Given the description of an element on the screen output the (x, y) to click on. 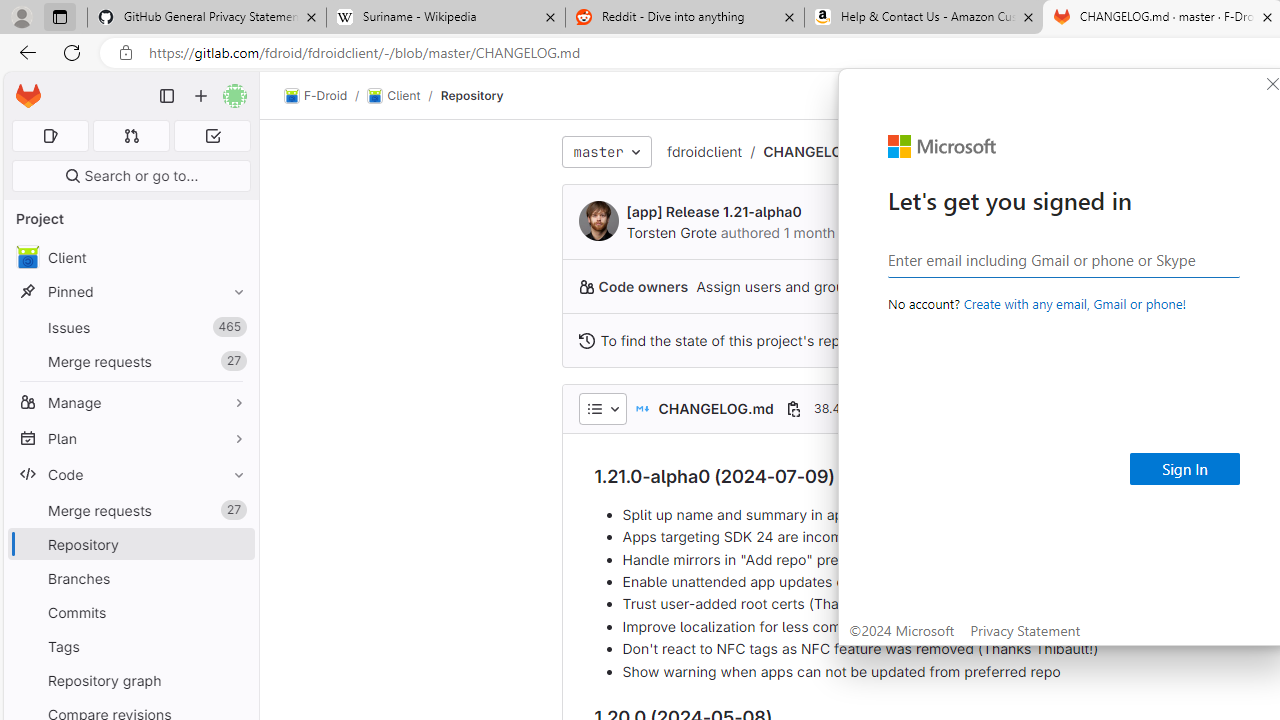
Unpin Issues (234, 327)
Branches (130, 578)
Commits (130, 612)
Help & Contact Us - Amazon Customer Service (924, 17)
Pin Tags (234, 646)
Client/ (404, 96)
Plan (130, 438)
avatar (27, 257)
Branches (130, 578)
Plan (130, 438)
fdroidclient (703, 151)
Pin Commits (234, 611)
Assigned issues 0 (50, 136)
Merge requests 0 (131, 136)
Tags (130, 646)
